Given the description of an element on the screen output the (x, y) to click on. 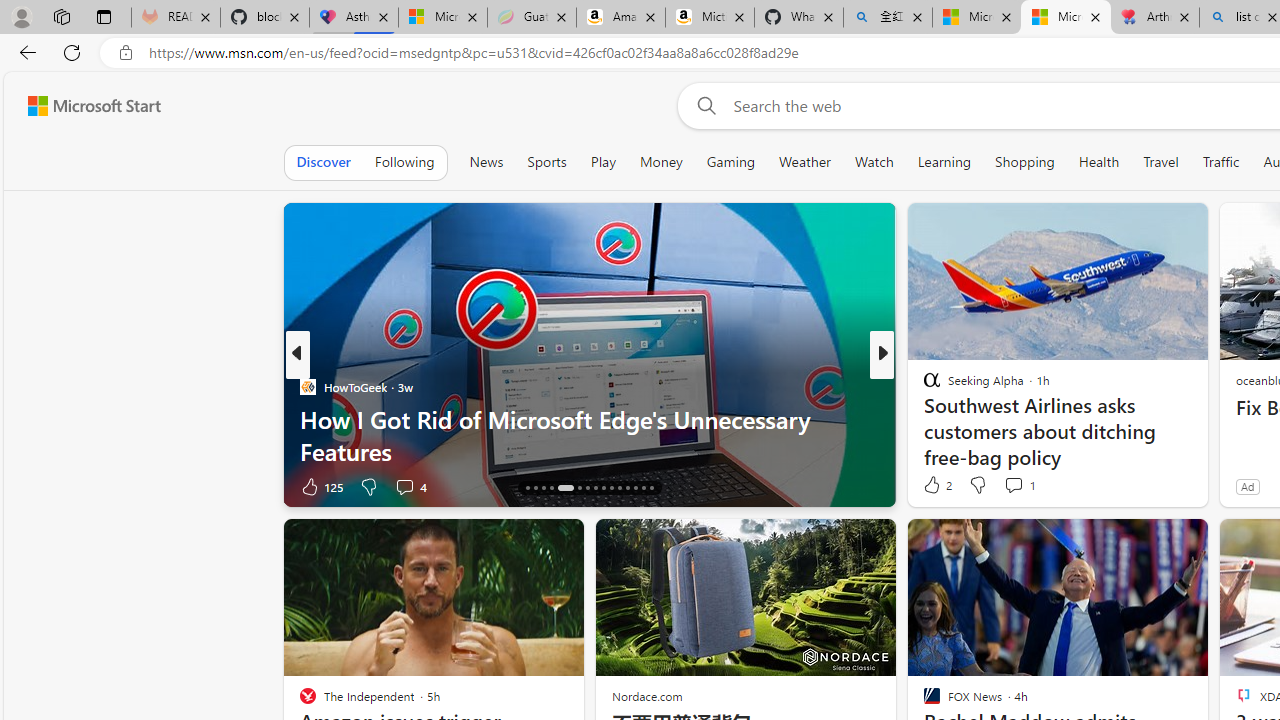
310 Like (936, 486)
AutomationID: tab-19 (550, 487)
2 Like (936, 484)
25 Like (934, 486)
AutomationID: tab-22 (586, 487)
125 Like (320, 486)
View comments 20 Comment (1029, 486)
View comments 9 Comment (1014, 485)
AutomationID: tab-28 (635, 487)
